Given the description of an element on the screen output the (x, y) to click on. 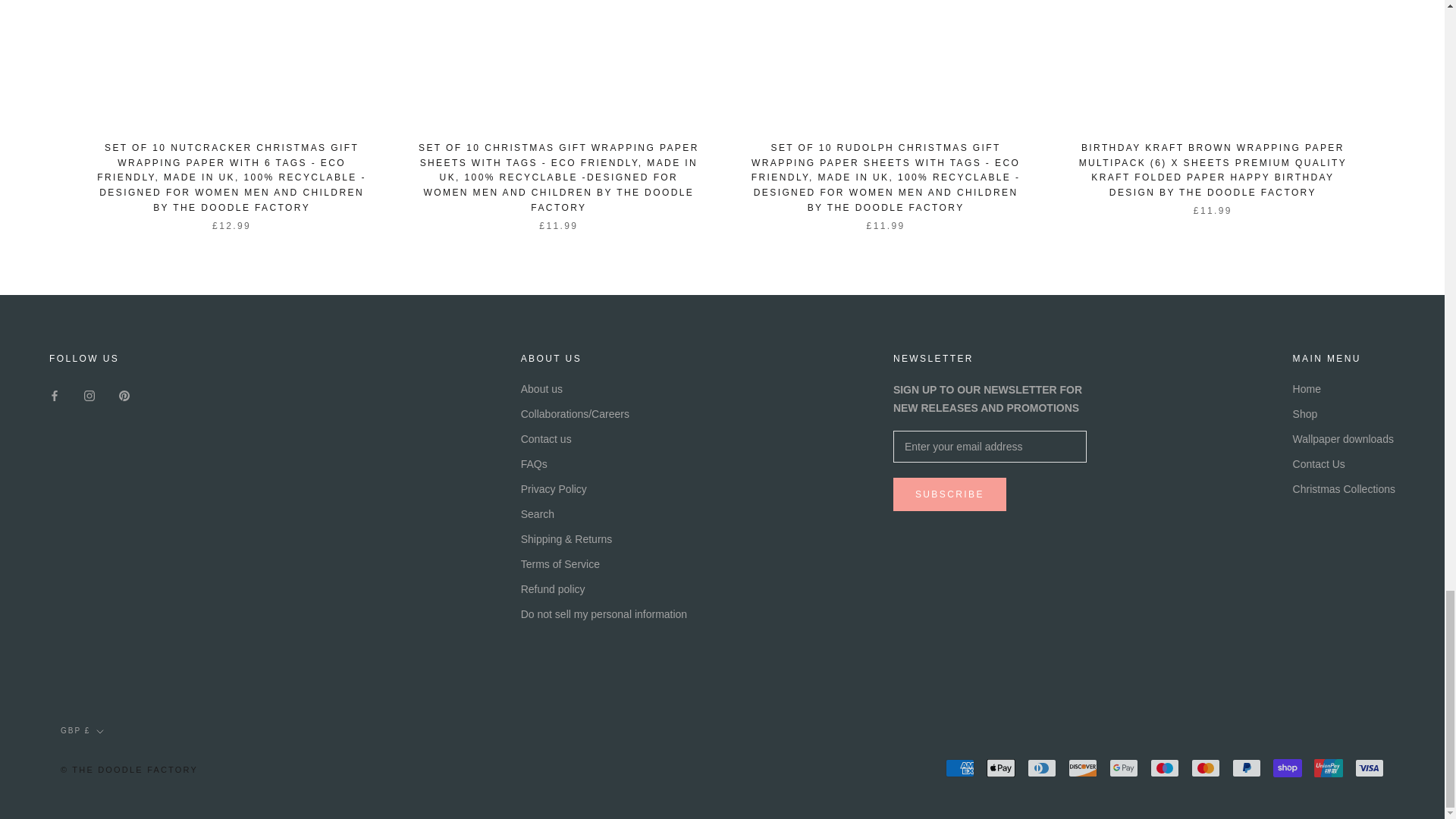
Apple Pay (1000, 768)
Google Pay (1123, 768)
Diners Club (1042, 768)
Discover (1082, 768)
Maestro (1164, 768)
American Express (959, 768)
